Given the description of an element on the screen output the (x, y) to click on. 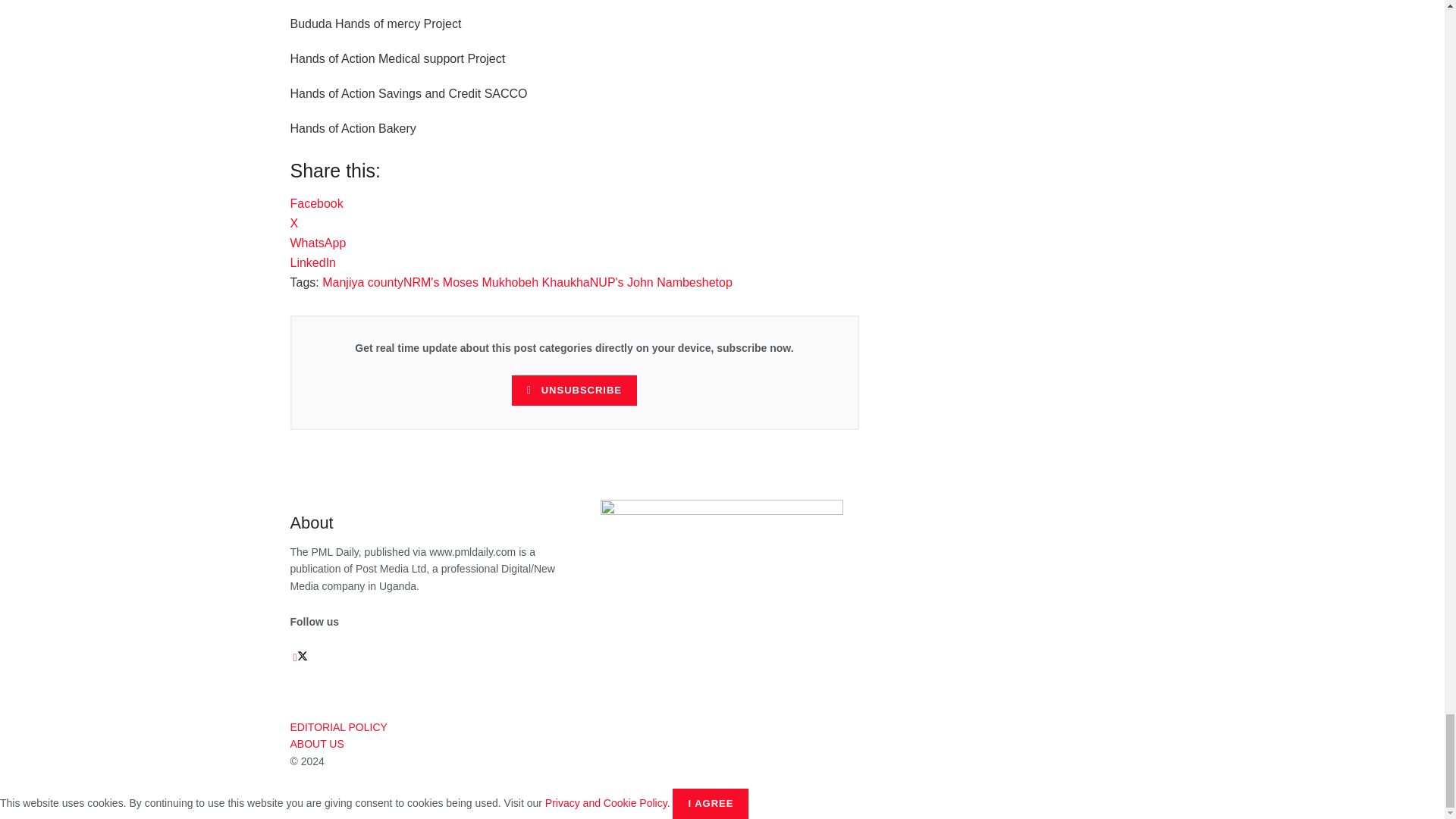
Click to share on WhatsApp (317, 242)
Click to share on Facebook (315, 203)
Click to share on LinkedIn (312, 262)
